Given the description of an element on the screen output the (x, y) to click on. 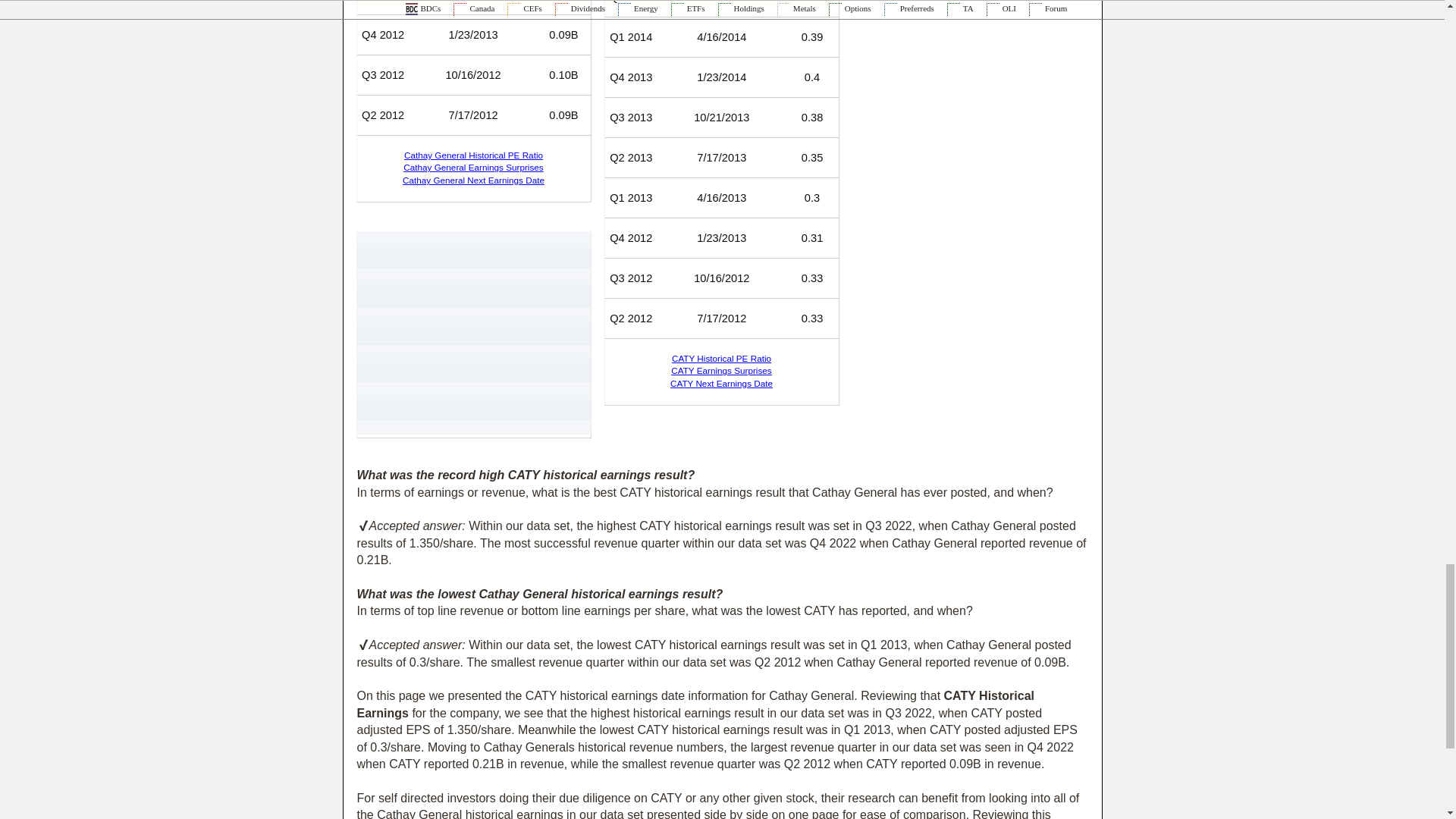
CATY Earnings Surprises (721, 370)
CATY Next Earnings Date (721, 383)
Cathay General Historical PE Ratio (473, 154)
Cathay General Next Earnings Date (473, 180)
CATY Historical PE Ratio (721, 357)
Cathay General Earnings Surprises (473, 166)
